Given the description of an element on the screen output the (x, y) to click on. 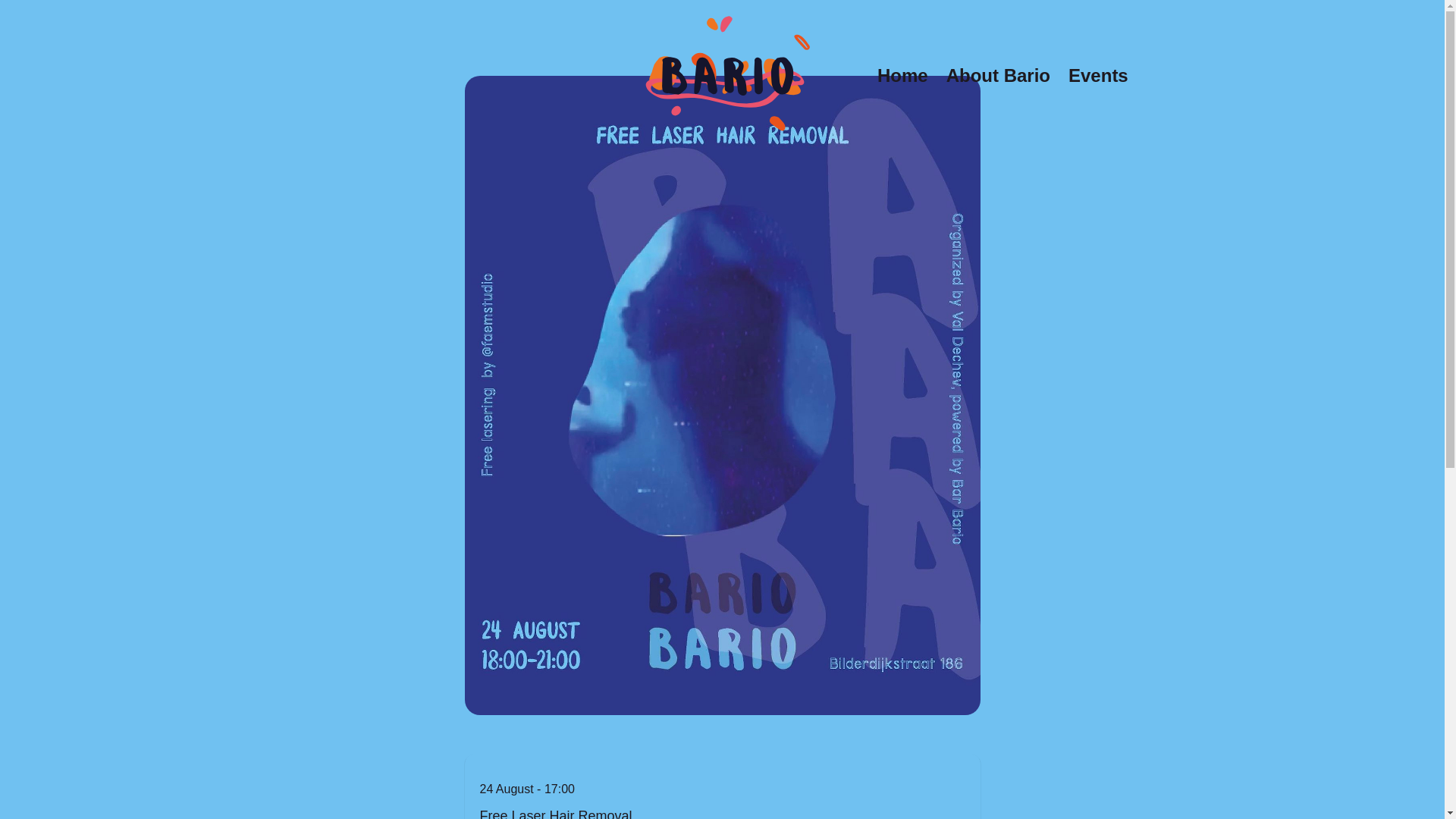
Home (902, 75)
Events (1098, 75)
About Bario (997, 75)
